Given the description of an element on the screen output the (x, y) to click on. 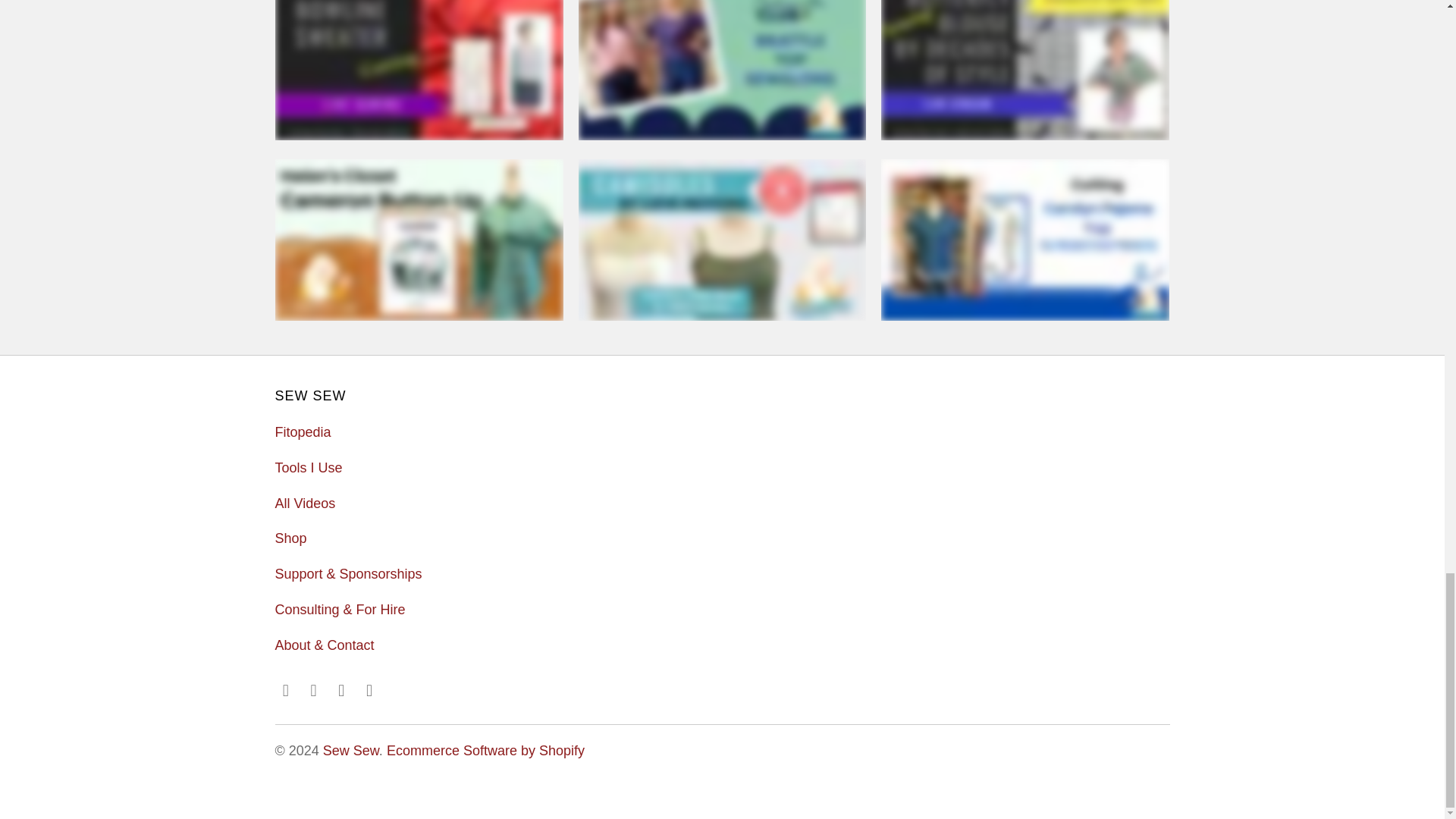
Sew Sew on Instagram (341, 690)
Sew Sew on Facebook (286, 690)
Email Sew Sew (369, 690)
Sew Sew on YouTube (313, 690)
